Given the description of an element on the screen output the (x, y) to click on. 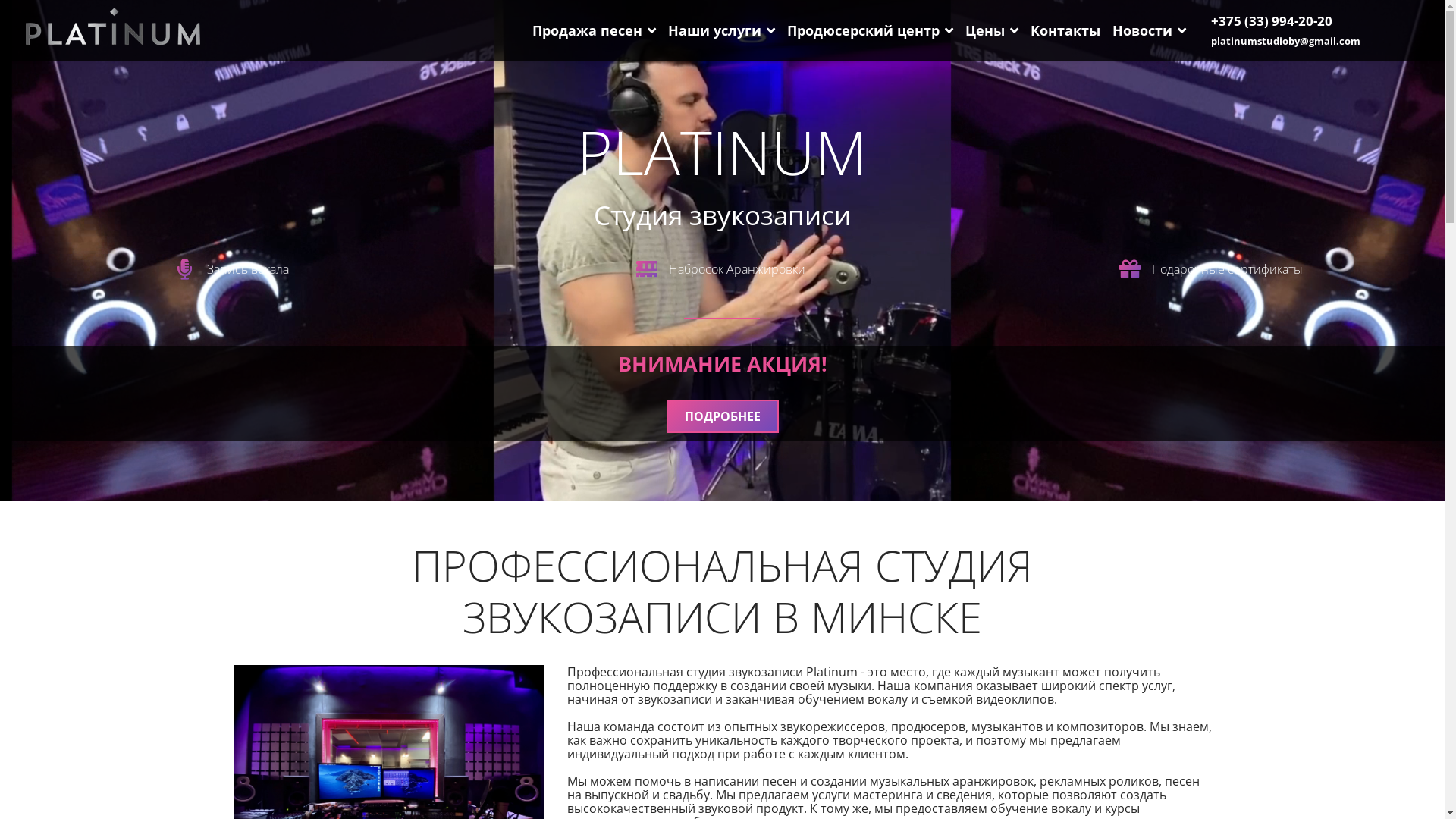
platinumstudioby@gmail.com Element type: text (1285, 40)
+375 (33) 994-20-20 Element type: text (1271, 20)
